Given the description of an element on the screen output the (x, y) to click on. 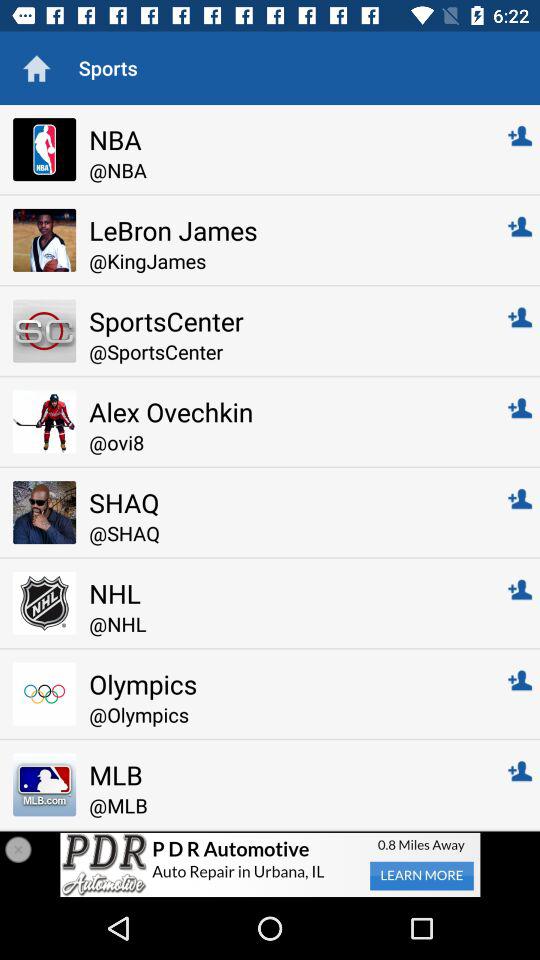
jump until the @ovi8 item (284, 442)
